Given the description of an element on the screen output the (x, y) to click on. 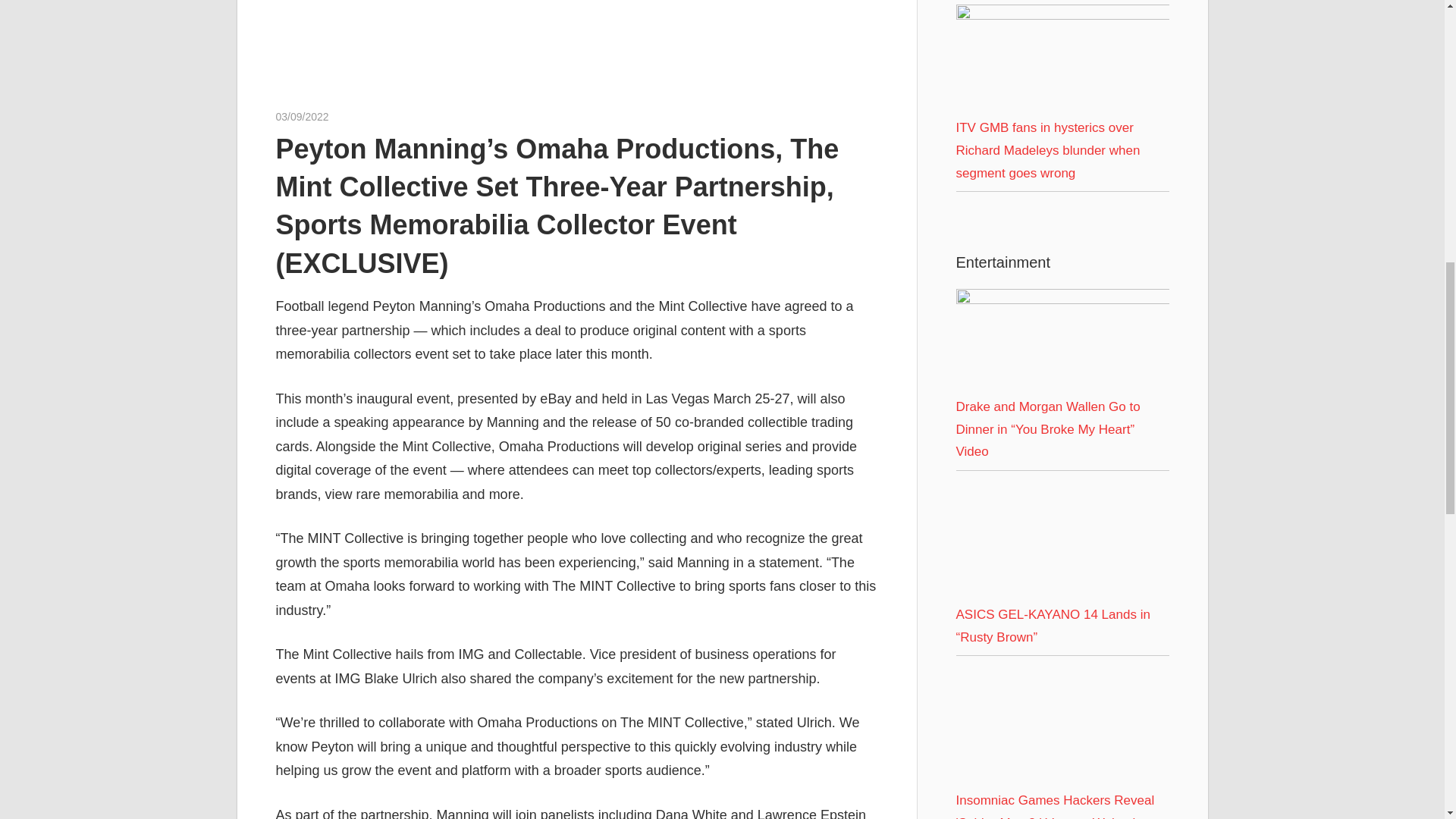
21:13 (302, 116)
